Given the description of an element on the screen output the (x, y) to click on. 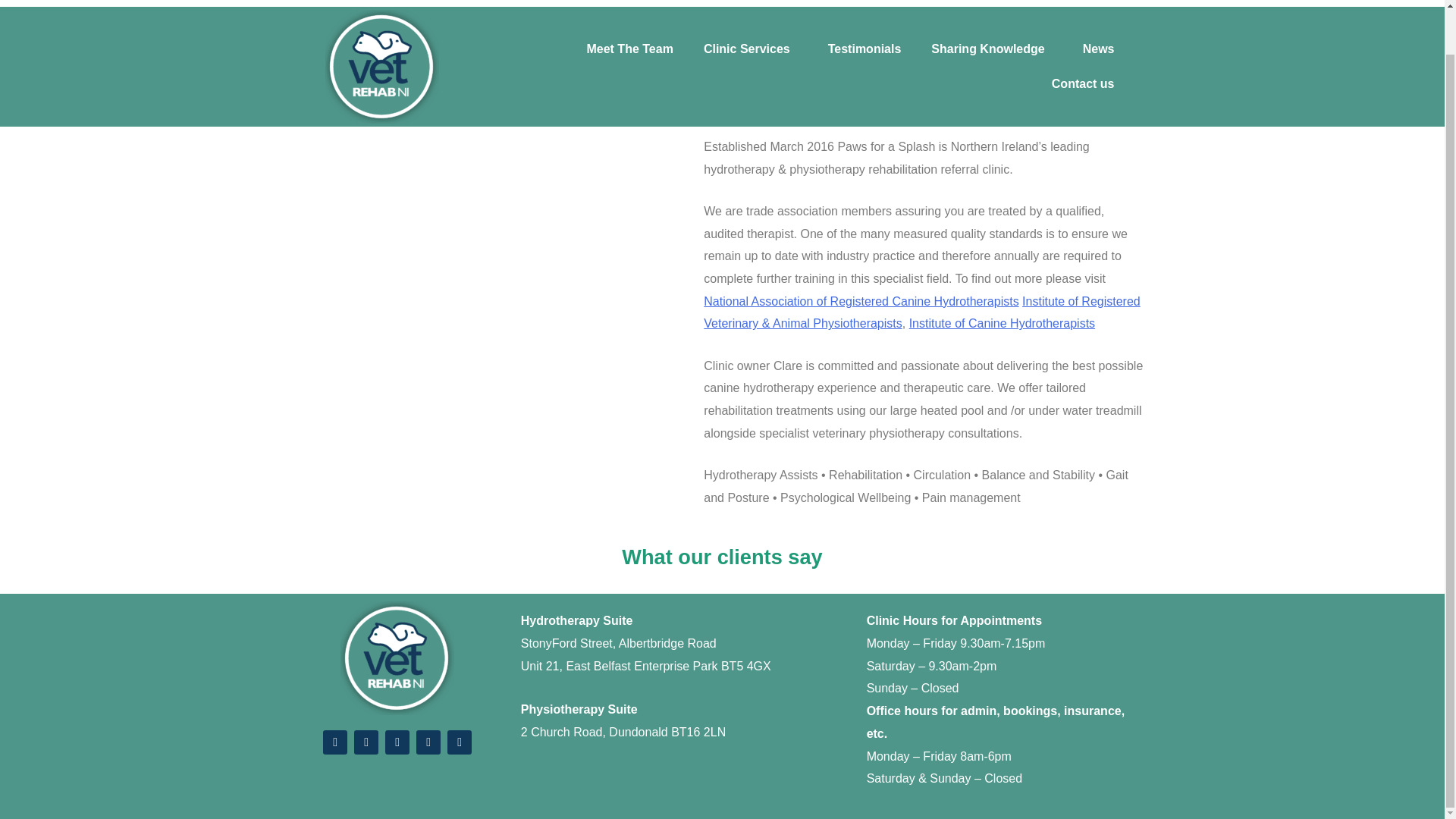
Sharing Knowledge (991, 14)
Testimonials (864, 13)
Contact us (1082, 71)
News (1098, 32)
